Given the description of an element on the screen output the (x, y) to click on. 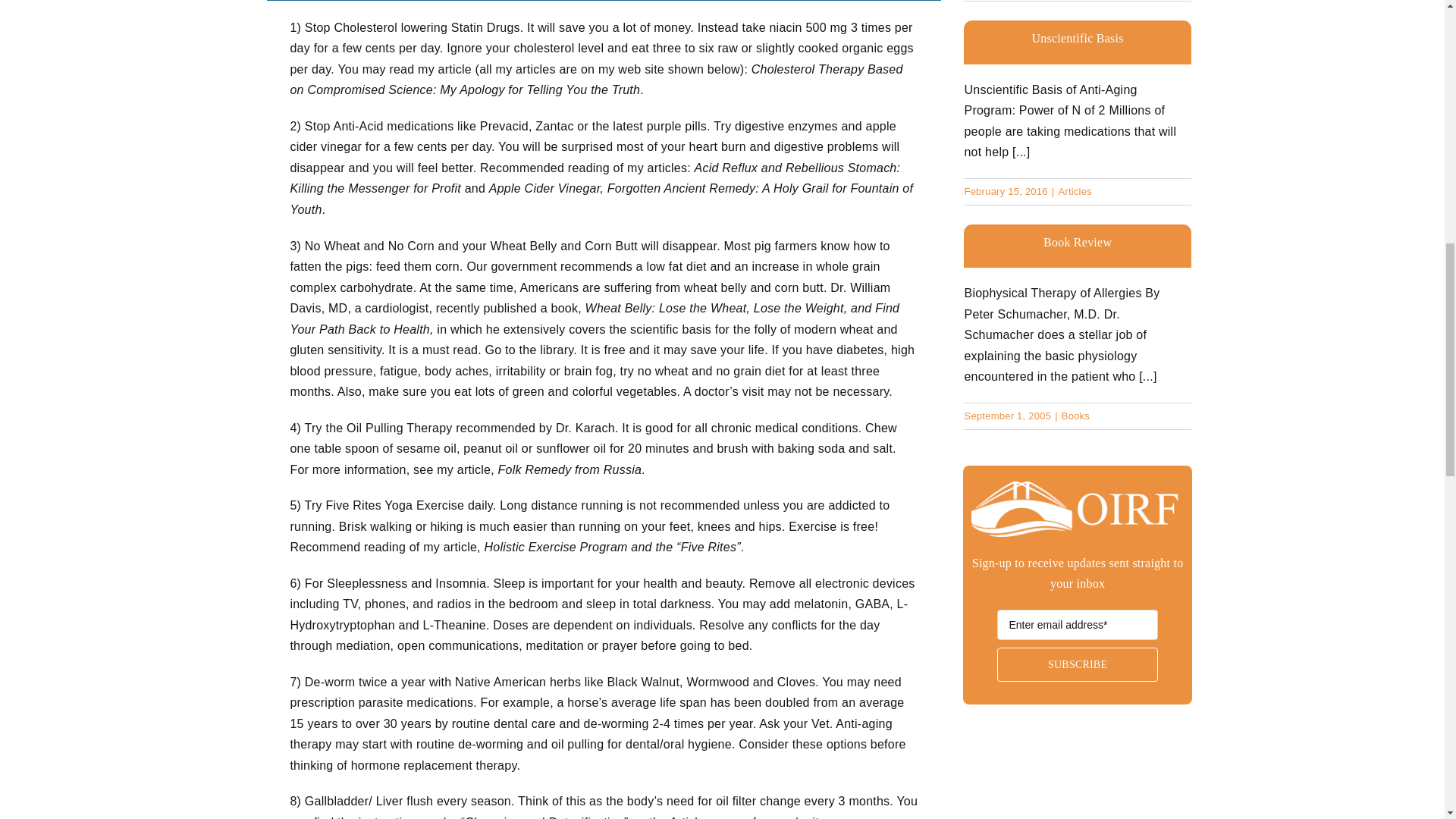
SUBSCRIBE (1077, 664)
SUBSCRIBE (1076, 656)
Articles (1075, 191)
Books (1075, 415)
